Given the description of an element on the screen output the (x, y) to click on. 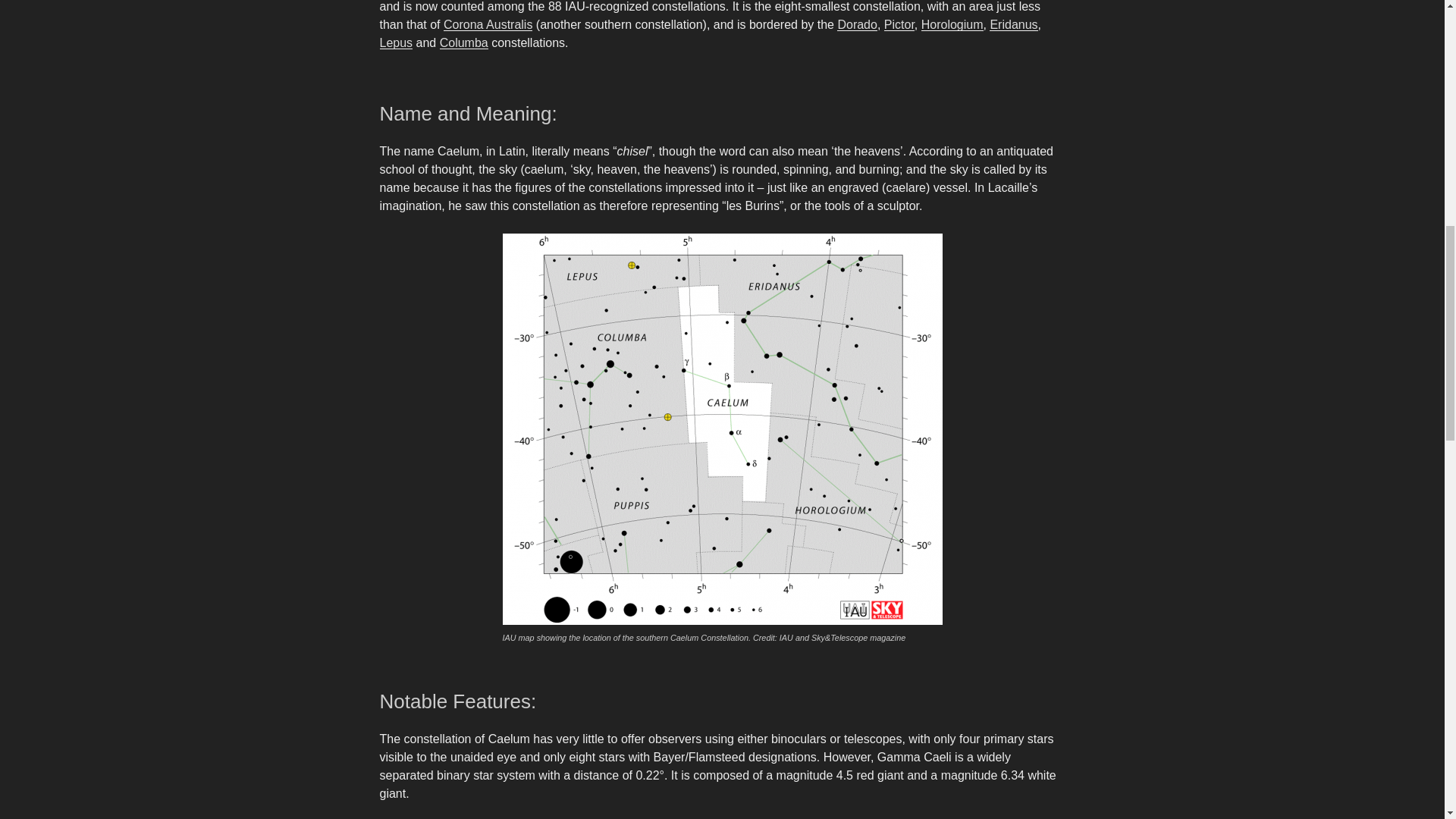
Horologium (952, 24)
Pictor (898, 24)
Corona Australis (488, 24)
Lepus (395, 42)
Columba (463, 42)
Eridanus (1013, 24)
Dorado (856, 24)
